Given the description of an element on the screen output the (x, y) to click on. 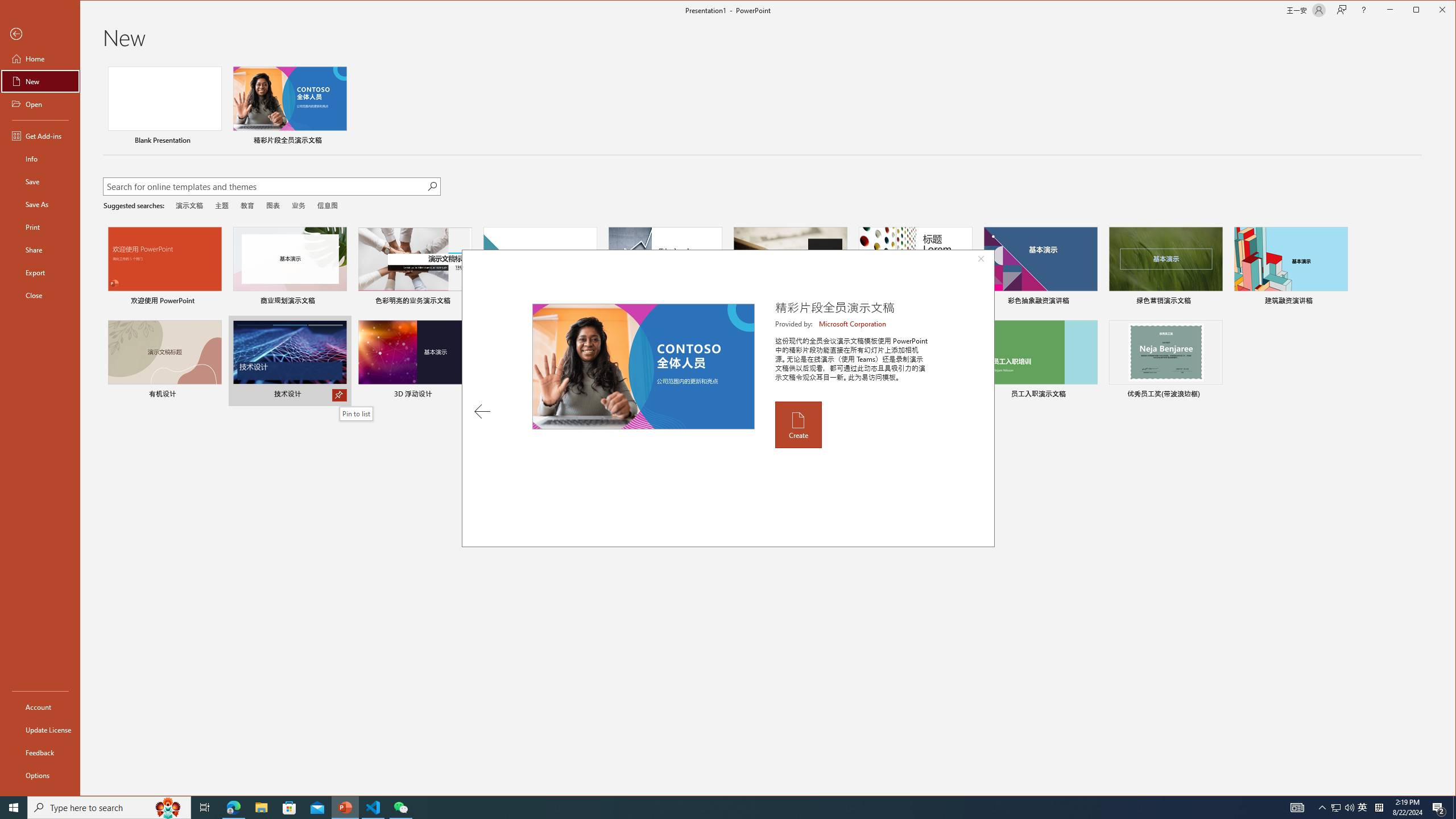
Export (40, 272)
Action Center, 2 new notifications (1439, 807)
Print (40, 226)
WeChat - 1 running window (400, 807)
